Given the description of an element on the screen output the (x, y) to click on. 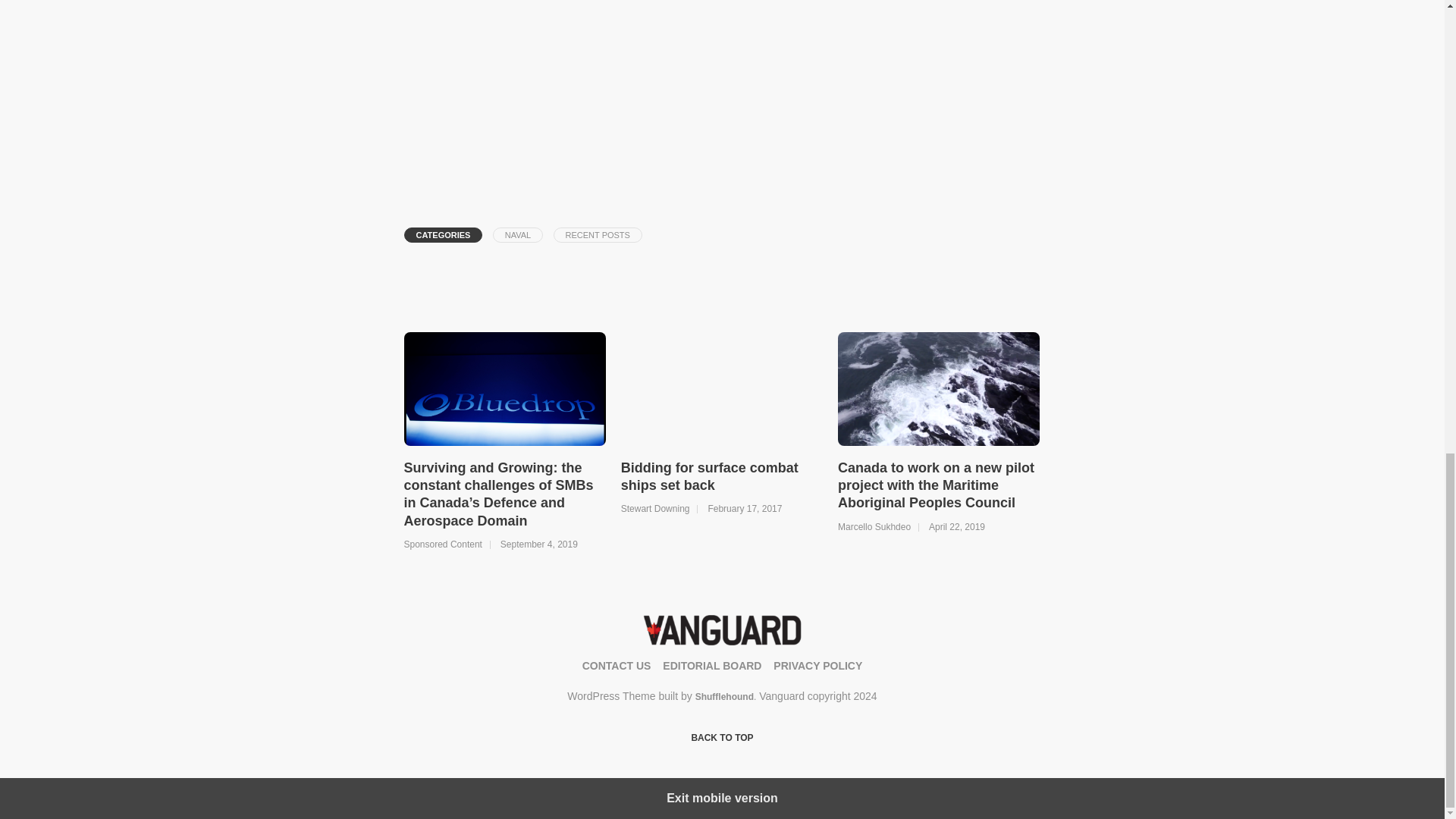
BACK TO TOP (720, 737)
RECENT POSTS (597, 234)
EDITORIAL BOARD (711, 665)
PRIVACY POLICY (817, 665)
Shufflehound. (726, 696)
CONTACT US (617, 665)
NAVAL (518, 234)
